Given the description of an element on the screen output the (x, y) to click on. 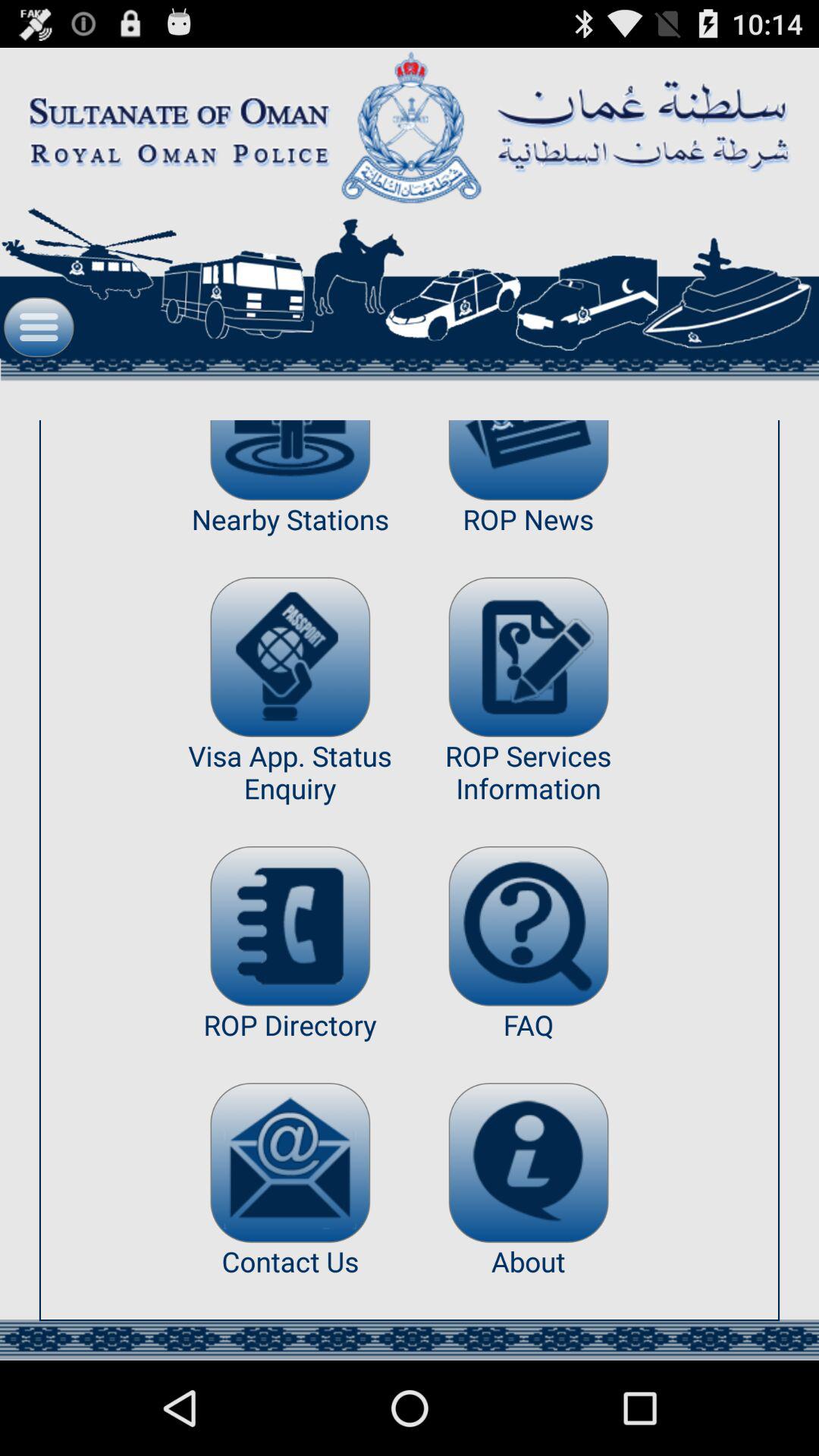
tap icon next to faq icon (290, 1162)
